Given the description of an element on the screen output the (x, y) to click on. 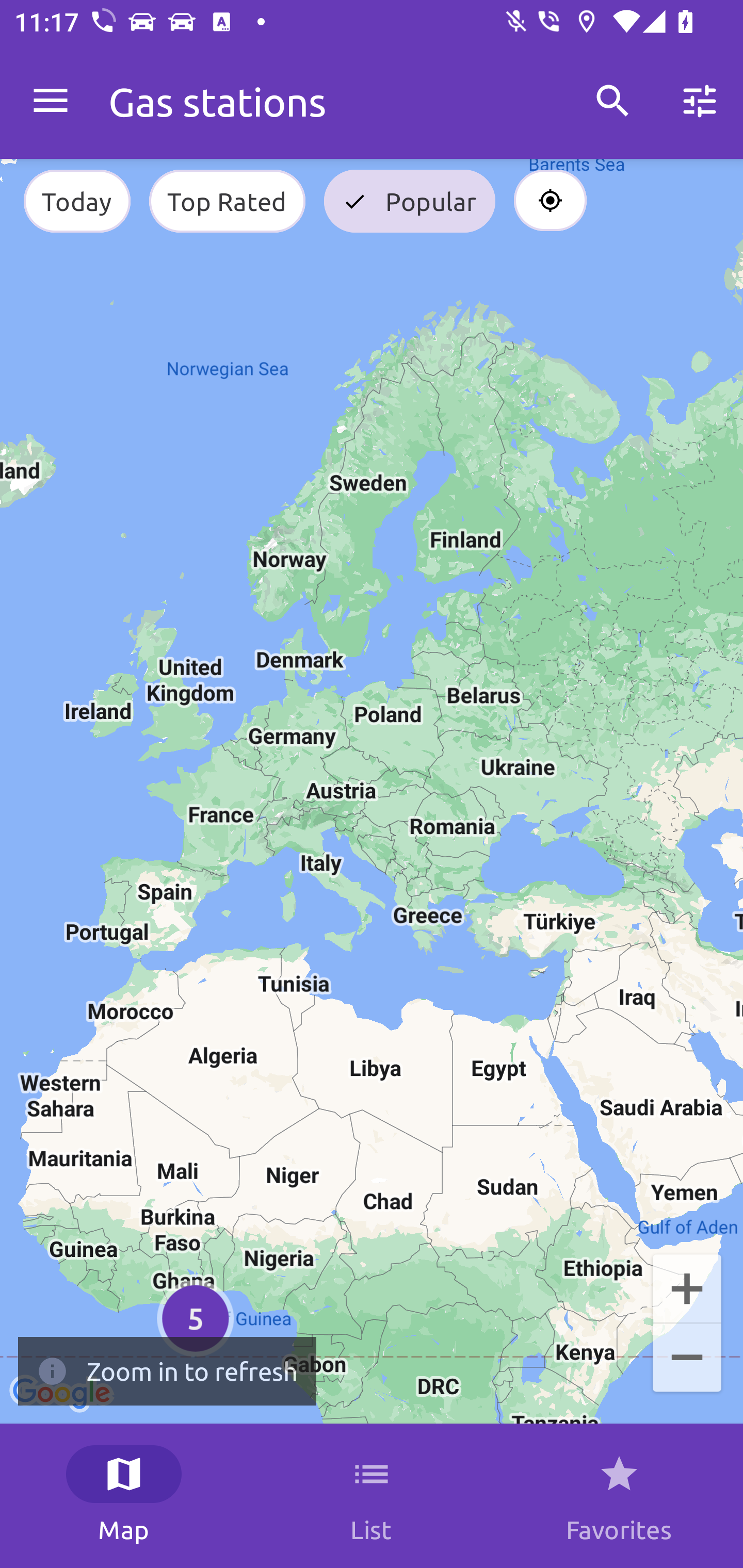
Fuelio (50, 101)
Search (612, 101)
Filter (699, 101)
Today (76, 201)
Top Rated (227, 201)
Selected Popular (409, 201)
Selected (549, 201)
Zoom in (687, 1287)
Zoom out (687, 1359)
